Given the description of an element on the screen output the (x, y) to click on. 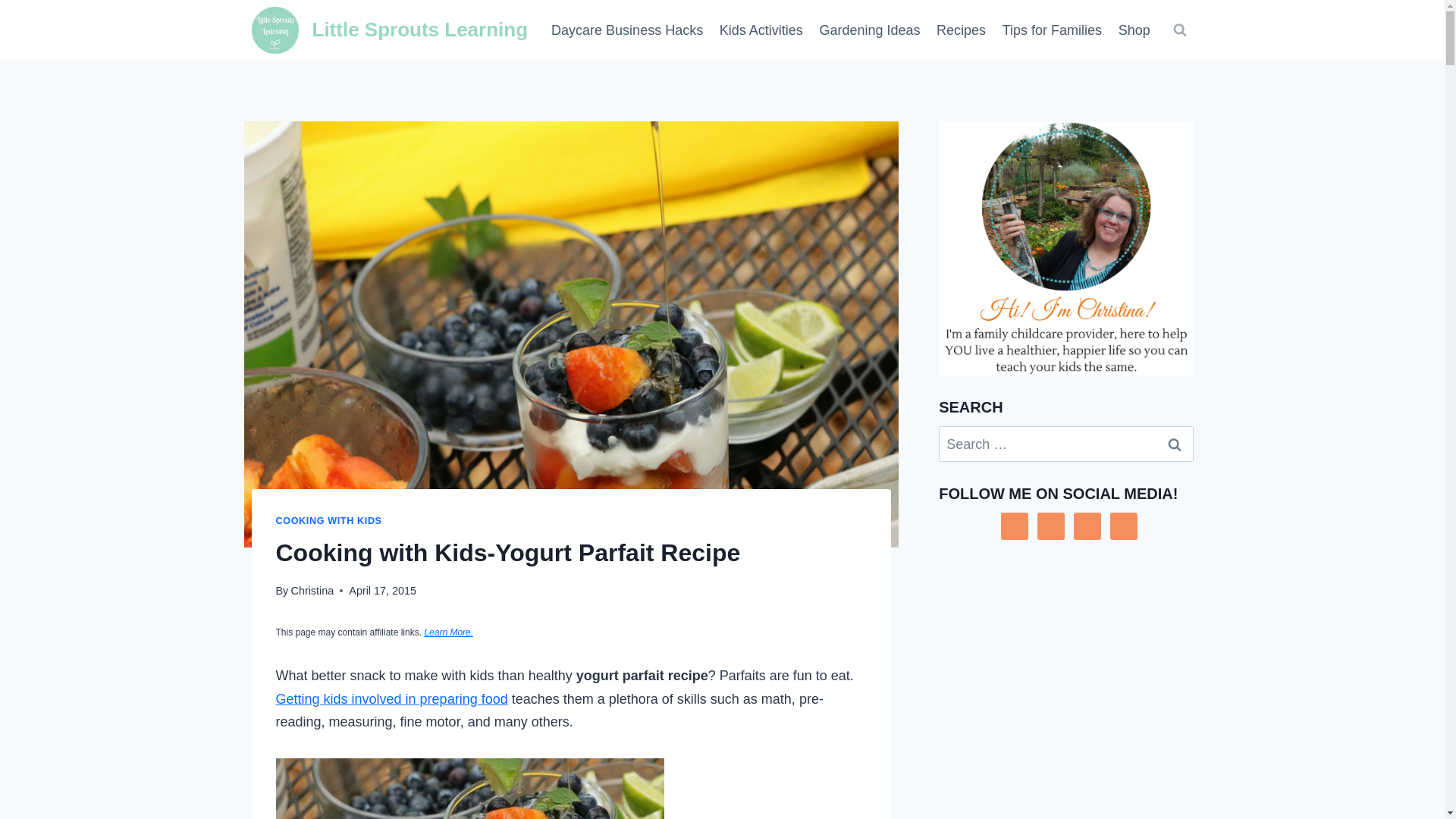
recipes, cooking with kids (961, 29)
tips for families, child development (1051, 29)
Daycare Business Hacks (627, 29)
Daycare Business Hacks (627, 29)
Recipes (961, 29)
Search (1174, 443)
Early Childhood Activities (760, 29)
Shop (1133, 29)
Learn More. (448, 632)
Kids Activities (760, 29)
Tips for Families (1051, 29)
Getting kids involved in preparing food (392, 698)
Little Sprouts Learning (389, 30)
